Given the description of an element on the screen output the (x, y) to click on. 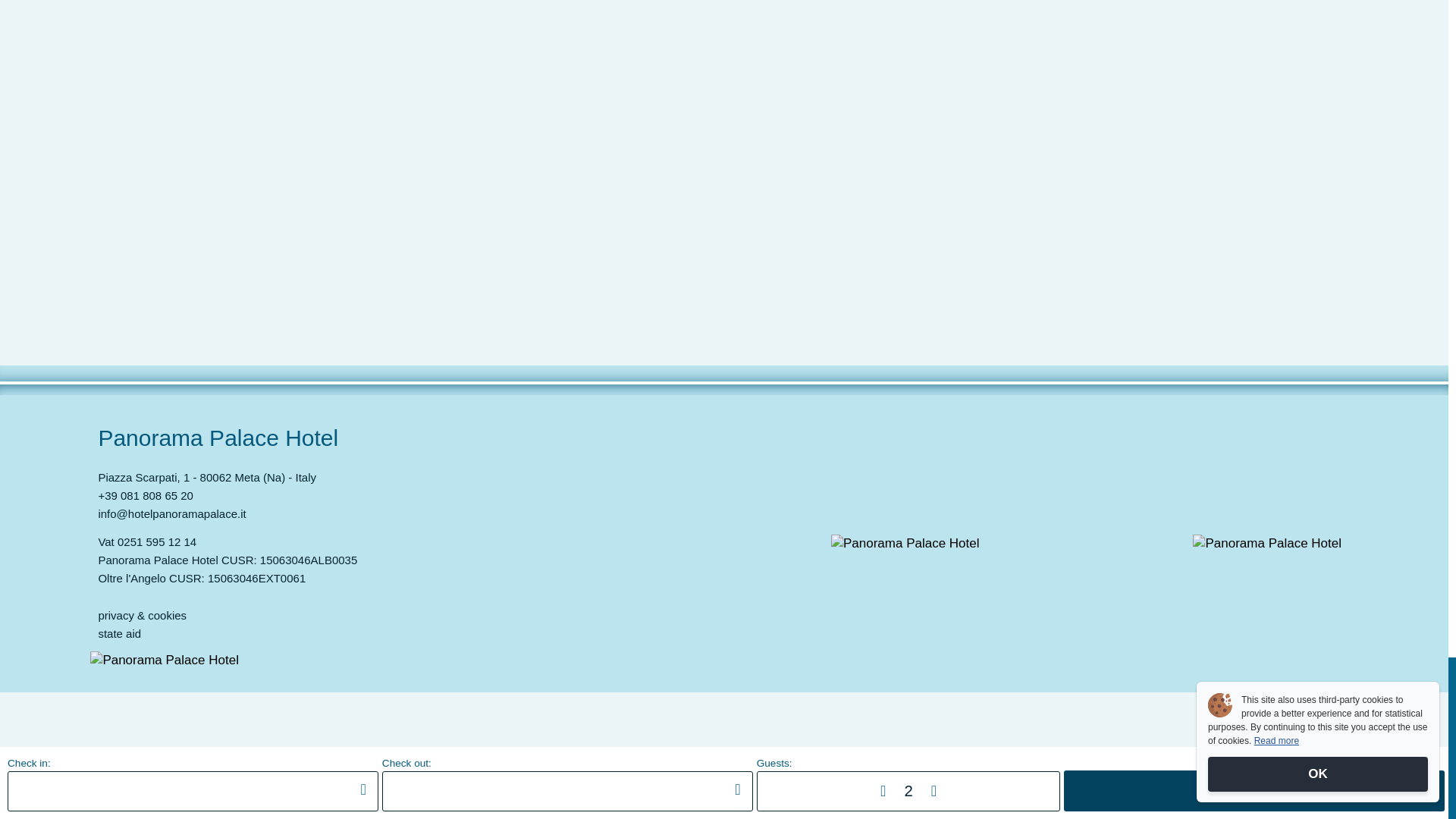
state aid (119, 633)
Toggle fullscreen (36, 779)
Share (21, 779)
